Given the description of an element on the screen output the (x, y) to click on. 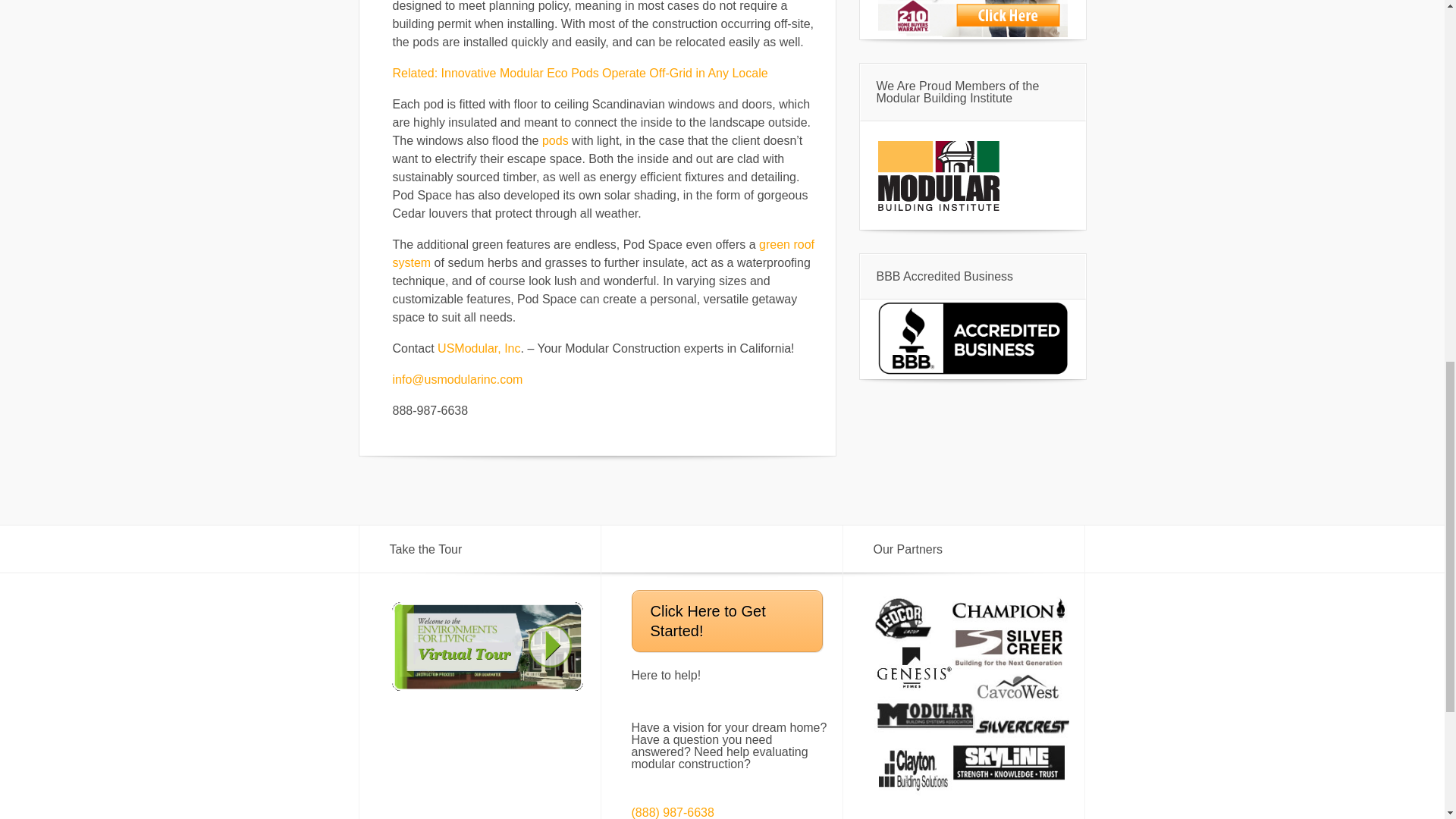
pods (555, 140)
USModular, Inc (478, 348)
green roof system (604, 253)
BBB Accredited Business (972, 372)
